Given the description of an element on the screen output the (x, y) to click on. 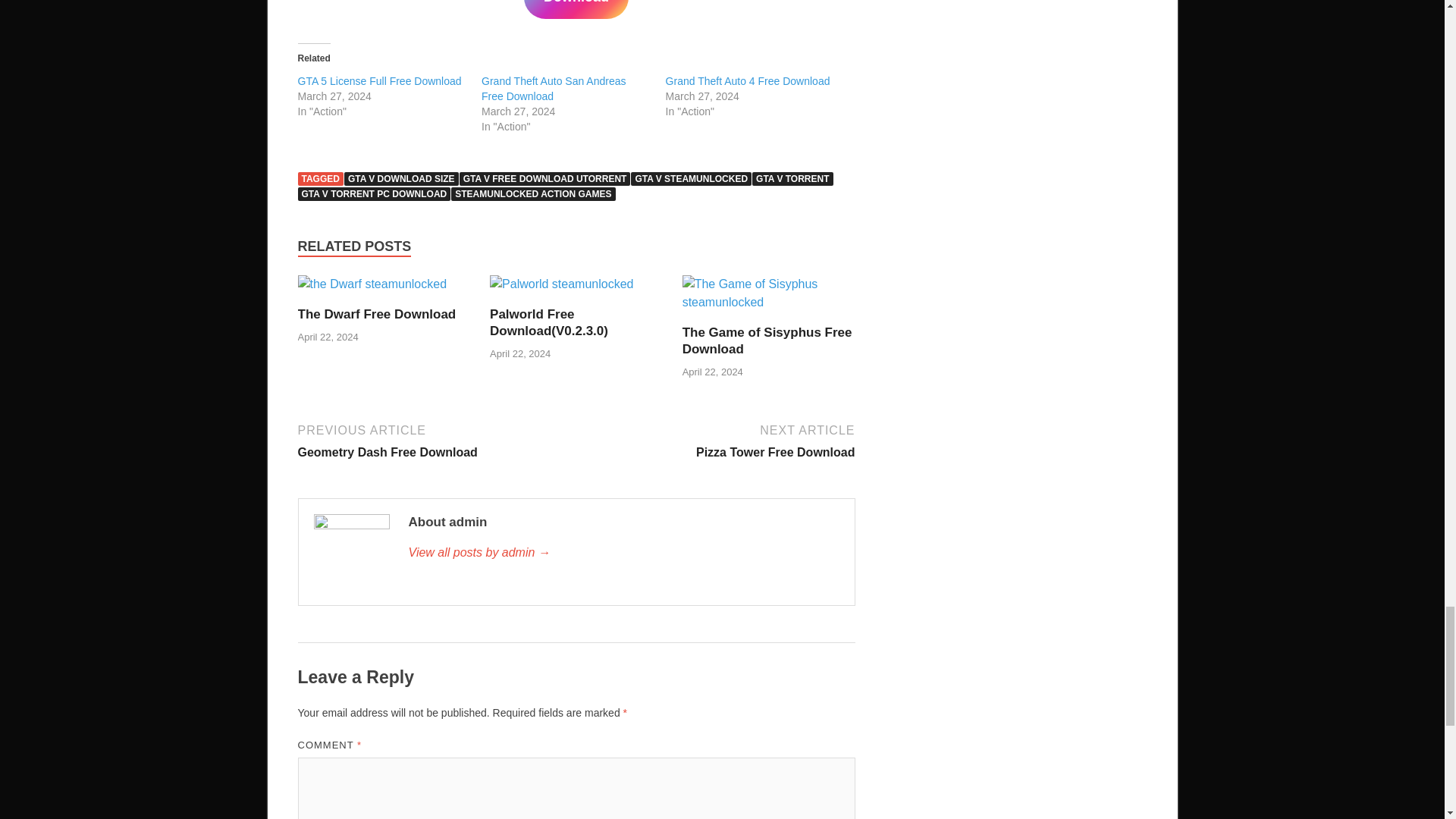
GTA 5 License Full Free Download (379, 80)
